Given the description of an element on the screen output the (x, y) to click on. 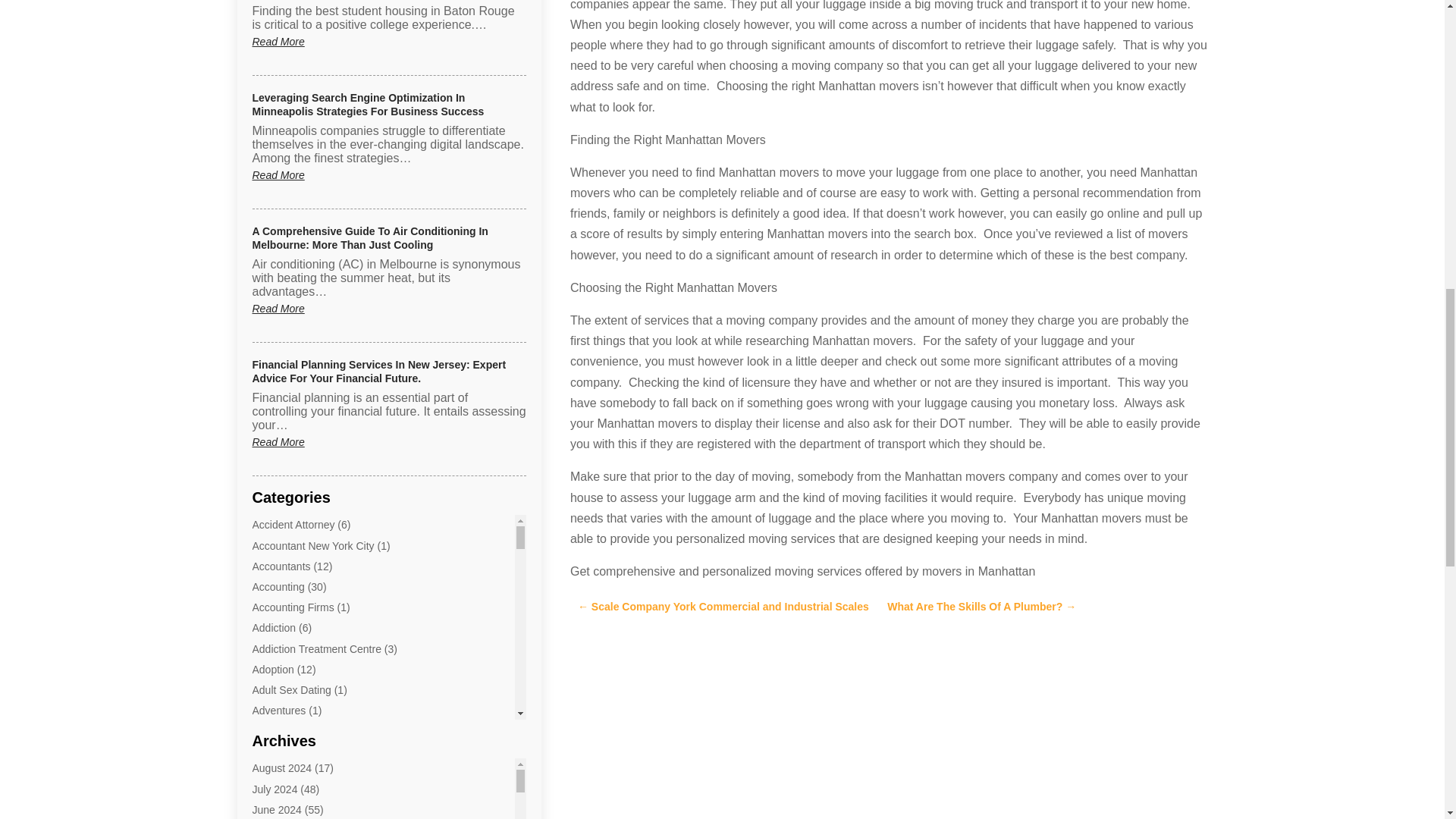
Accident Attorney (292, 524)
Accounting Firms (292, 607)
Accountants (280, 566)
Addiction (273, 627)
Addiction Treatment Centre (315, 648)
Accounting (277, 586)
